Given the description of an element on the screen output the (x, y) to click on. 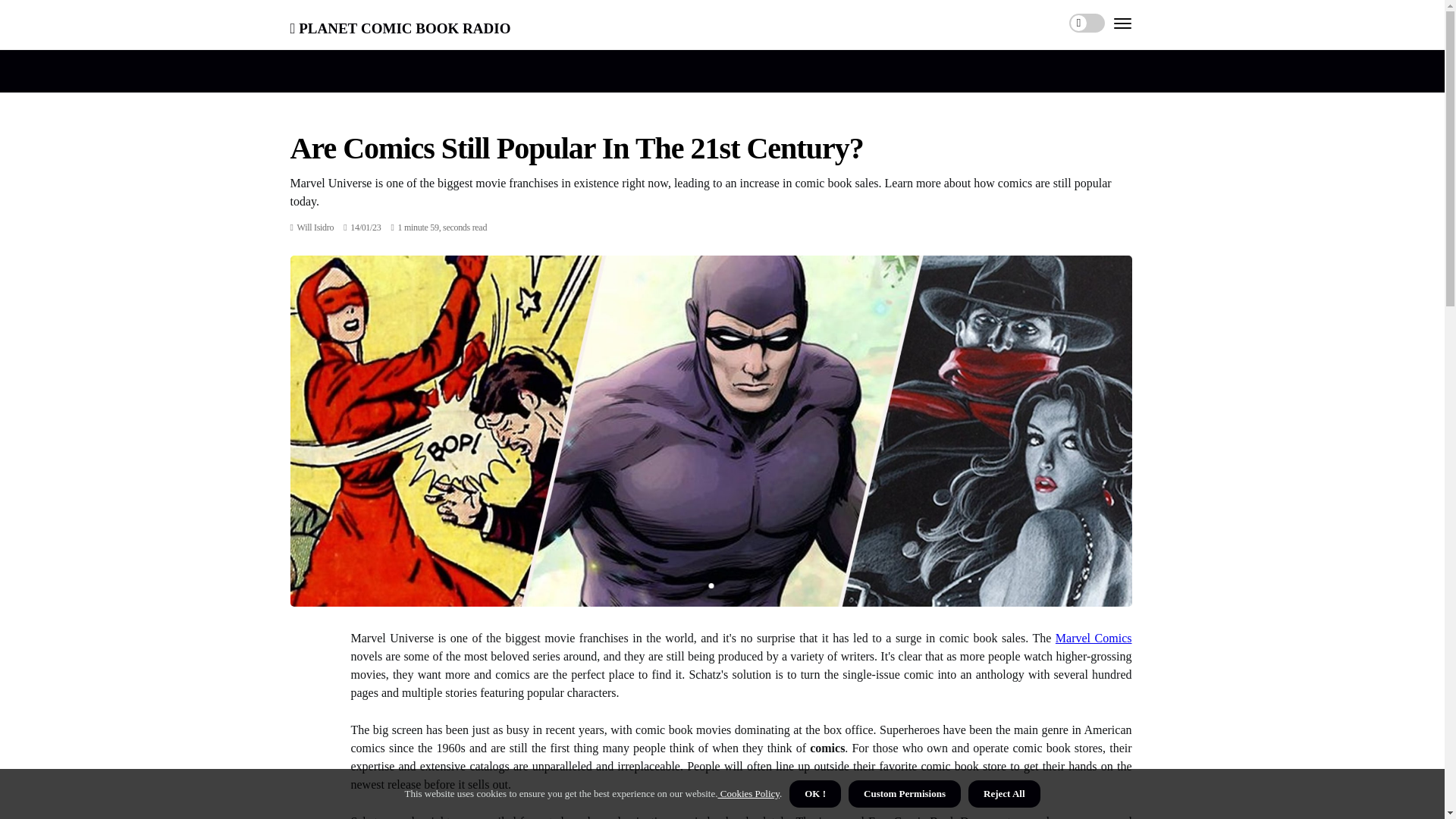
Will Isidro (315, 226)
Planet Comic Book Radio (400, 26)
Marvel Comics (1093, 637)
1 (710, 585)
Posts by Will Isidro (315, 226)
